Given the description of an element on the screen output the (x, y) to click on. 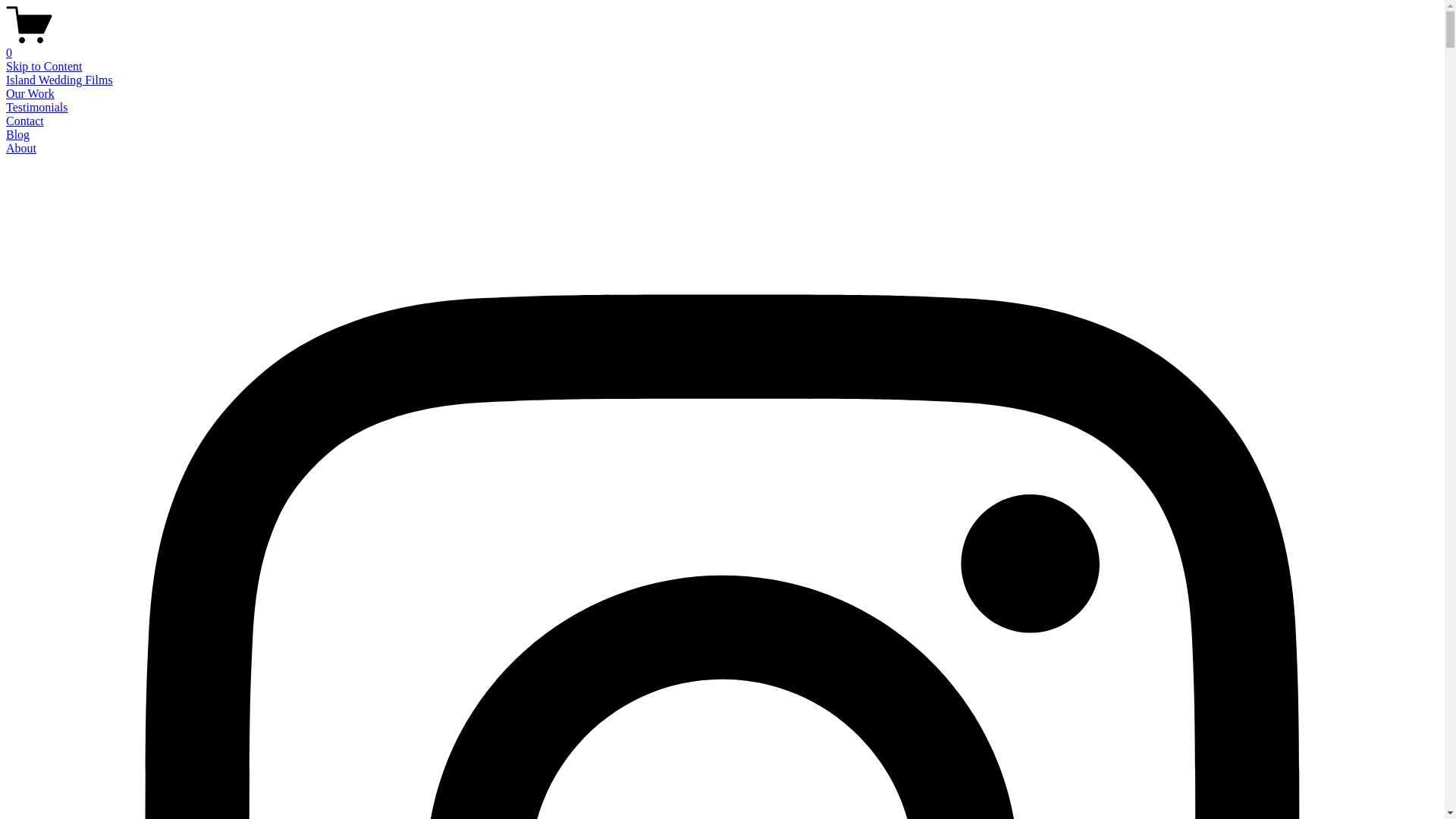
Island Wedding Films Element type: text (59, 79)
Blog Element type: text (17, 134)
Skip to Content Element type: text (43, 65)
Testimonials Element type: text (37, 106)
About Element type: text (21, 147)
0 Element type: text (722, 45)
Our Work Element type: text (30, 93)
Contact Element type: text (24, 120)
